Given the description of an element on the screen output the (x, y) to click on. 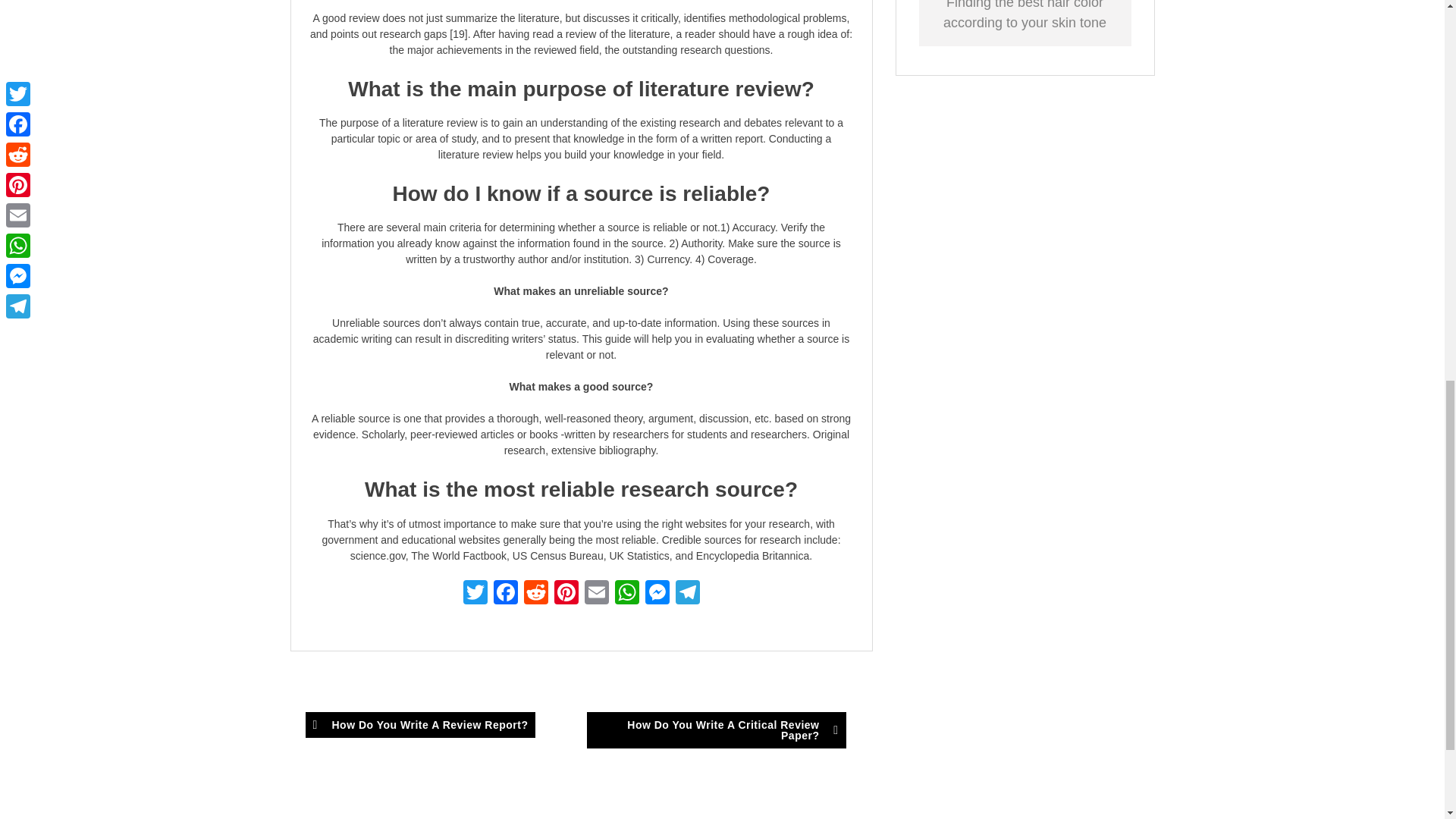
Pinterest (565, 593)
Email (595, 593)
Facebook (504, 593)
Twitter (474, 593)
Telegram (686, 593)
Reddit (534, 593)
How Do You Write A Critical Review Paper? (715, 729)
Messenger (656, 593)
Facebook (504, 593)
Reddit (534, 593)
Finding the best hair color according to your skin tone (1024, 15)
Twitter (474, 593)
WhatsApp (626, 593)
Pinterest (565, 593)
Email (595, 593)
